Given the description of an element on the screen output the (x, y) to click on. 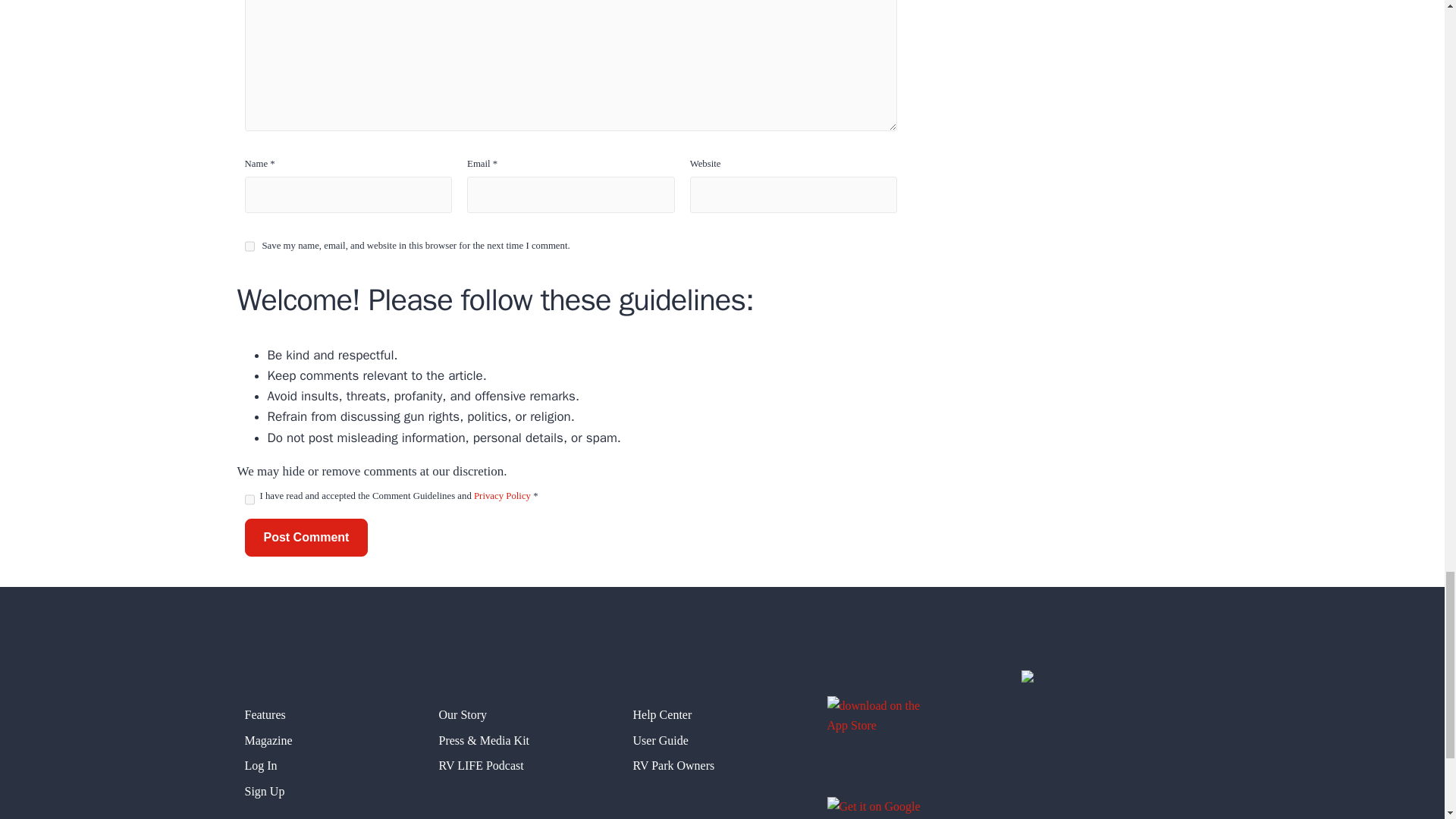
Post Comment (306, 537)
